Given the description of an element on the screen output the (x, y) to click on. 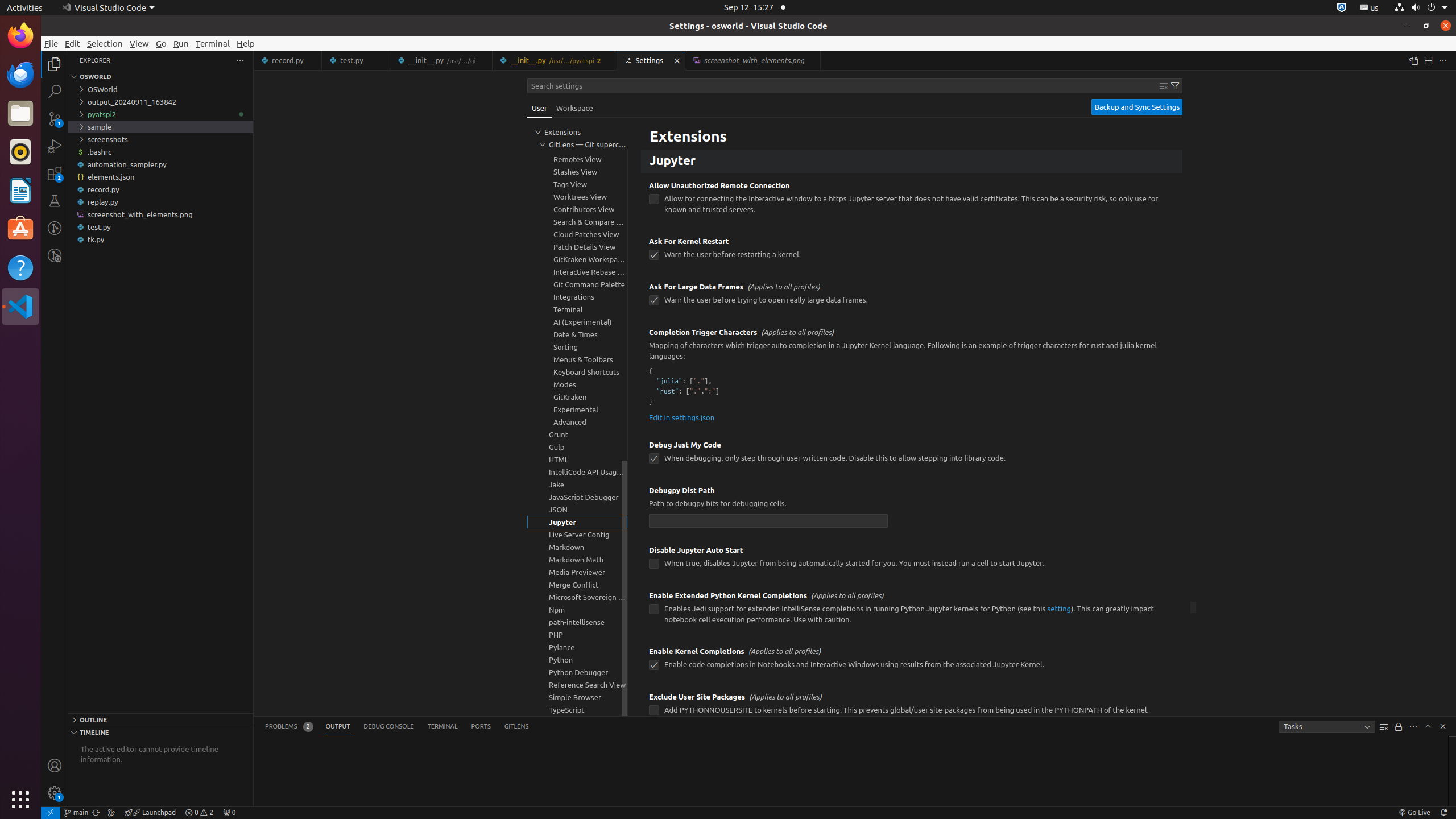
jupyter.allowUnauthorizedRemoteConnection Element type: check-box (653, 198)
remote Element type: push-button (50, 812)
Settings Element type: page-tab (651, 60)
Extensions (Ctrl+Shift+X) - 2 require restart Extensions (Ctrl+Shift+X) - 2 require restart Element type: page-tab (54, 173)
Sorting, group Element type: tree-item (577, 346)
